Given the description of an element on the screen output the (x, y) to click on. 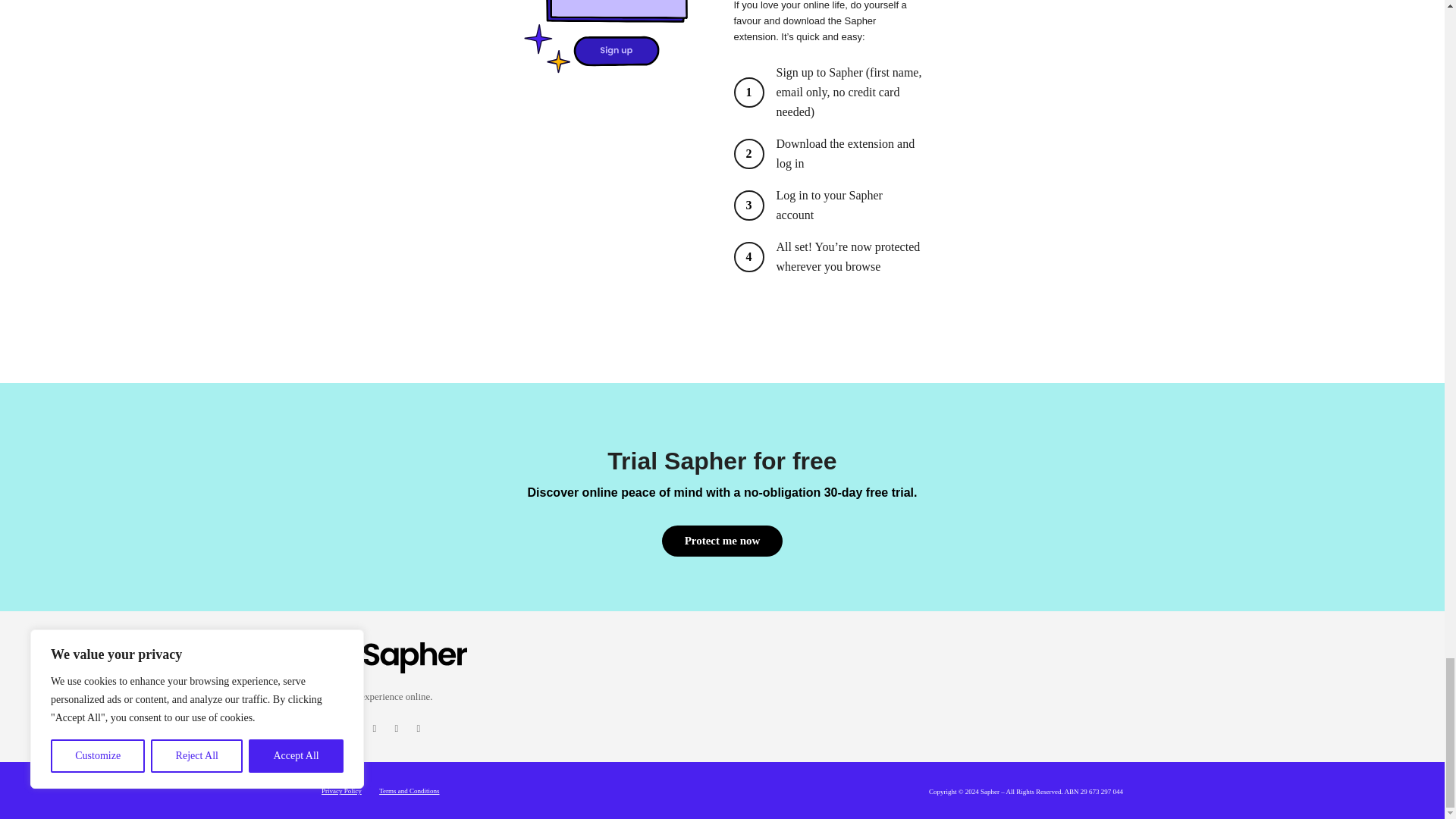
Instagram (374, 728)
Tiktok (418, 728)
LinkedIn (396, 728)
Twitter (352, 728)
Facebook (330, 728)
